Given the description of an element on the screen output the (x, y) to click on. 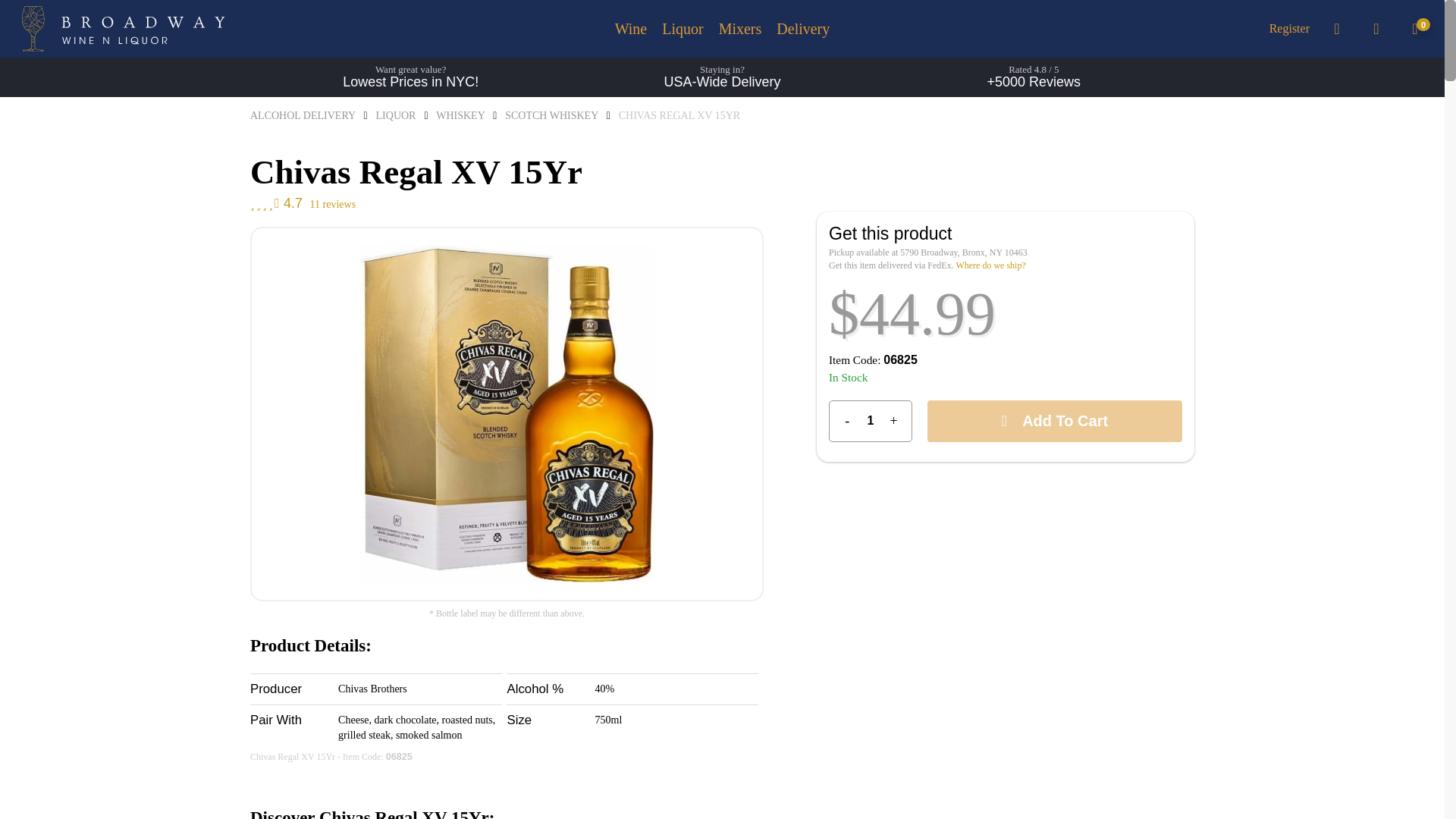
Chivas Regal Xv 15yr.jpg (507, 413)
Wine (631, 28)
